Given the description of an element on the screen output the (x, y) to click on. 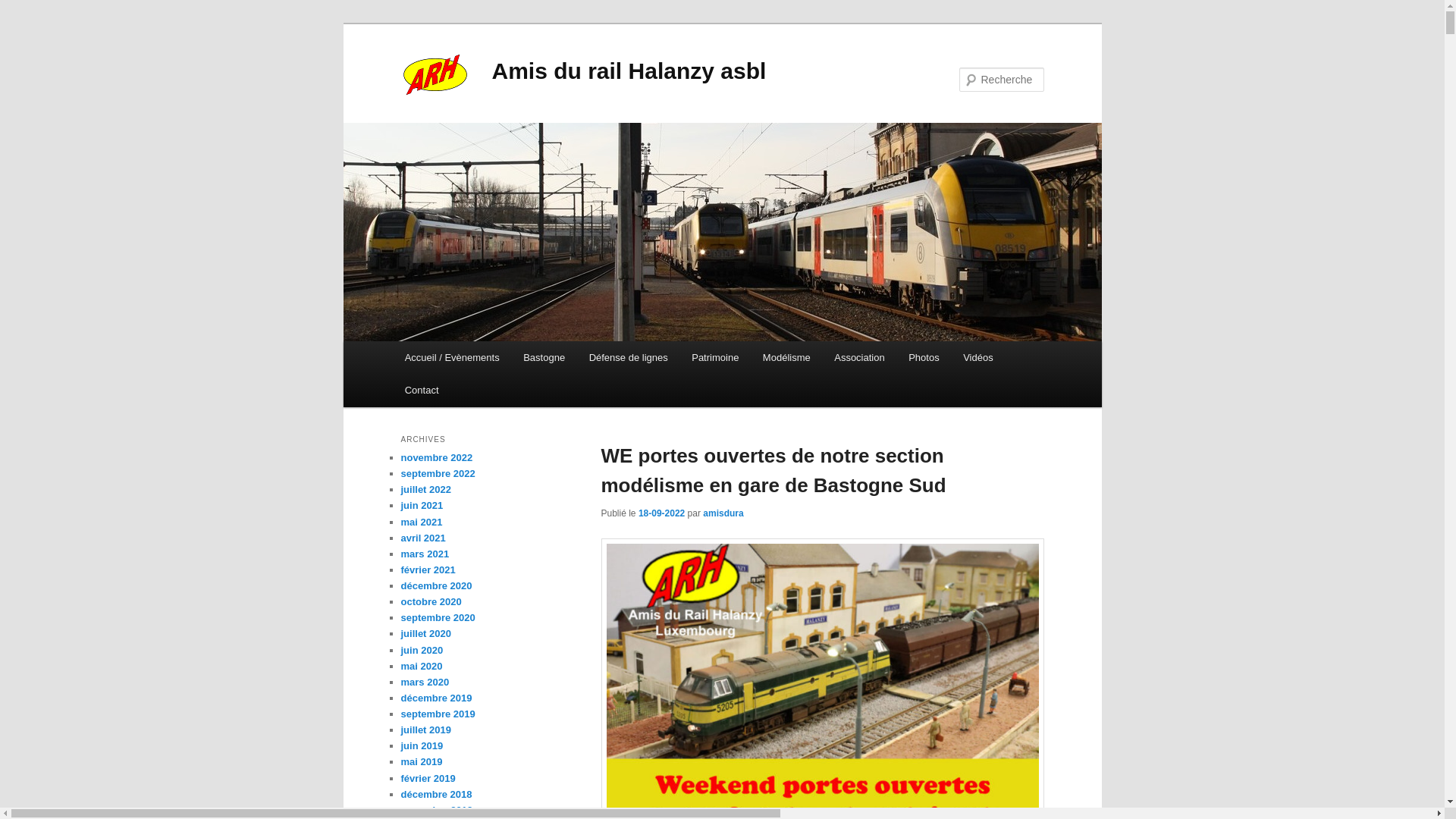
juillet 2022 Element type: text (425, 489)
juin 2021 Element type: text (421, 505)
juin 2020 Element type: text (421, 649)
Recherche Element type: text (33, 8)
mars 2021 Element type: text (424, 553)
novembre 2018 Element type: text (436, 809)
Aller au contenu principal Element type: text (414, 341)
novembre 2022 Element type: text (436, 457)
Photos Element type: text (923, 357)
mai 2020 Element type: text (421, 665)
octobre 2020 Element type: text (430, 601)
amisdura Element type: text (722, 513)
mai 2019 Element type: text (421, 761)
Patrimoine Element type: text (714, 357)
juillet 2019 Element type: text (425, 729)
juillet 2020 Element type: text (425, 633)
Association Element type: text (859, 357)
septembre 2022 Element type: text (437, 473)
avril 2021 Element type: text (422, 537)
septembre 2020 Element type: text (437, 617)
Amis du rail Halanzy asbl Element type: text (628, 70)
mai 2021 Element type: text (421, 521)
mars 2020 Element type: text (424, 681)
septembre 2019 Element type: text (437, 713)
18-09-2022 Element type: text (661, 513)
Bastogne Element type: text (543, 357)
juin 2019 Element type: text (421, 745)
Contact Element type: text (421, 389)
